Given the description of an element on the screen output the (x, y) to click on. 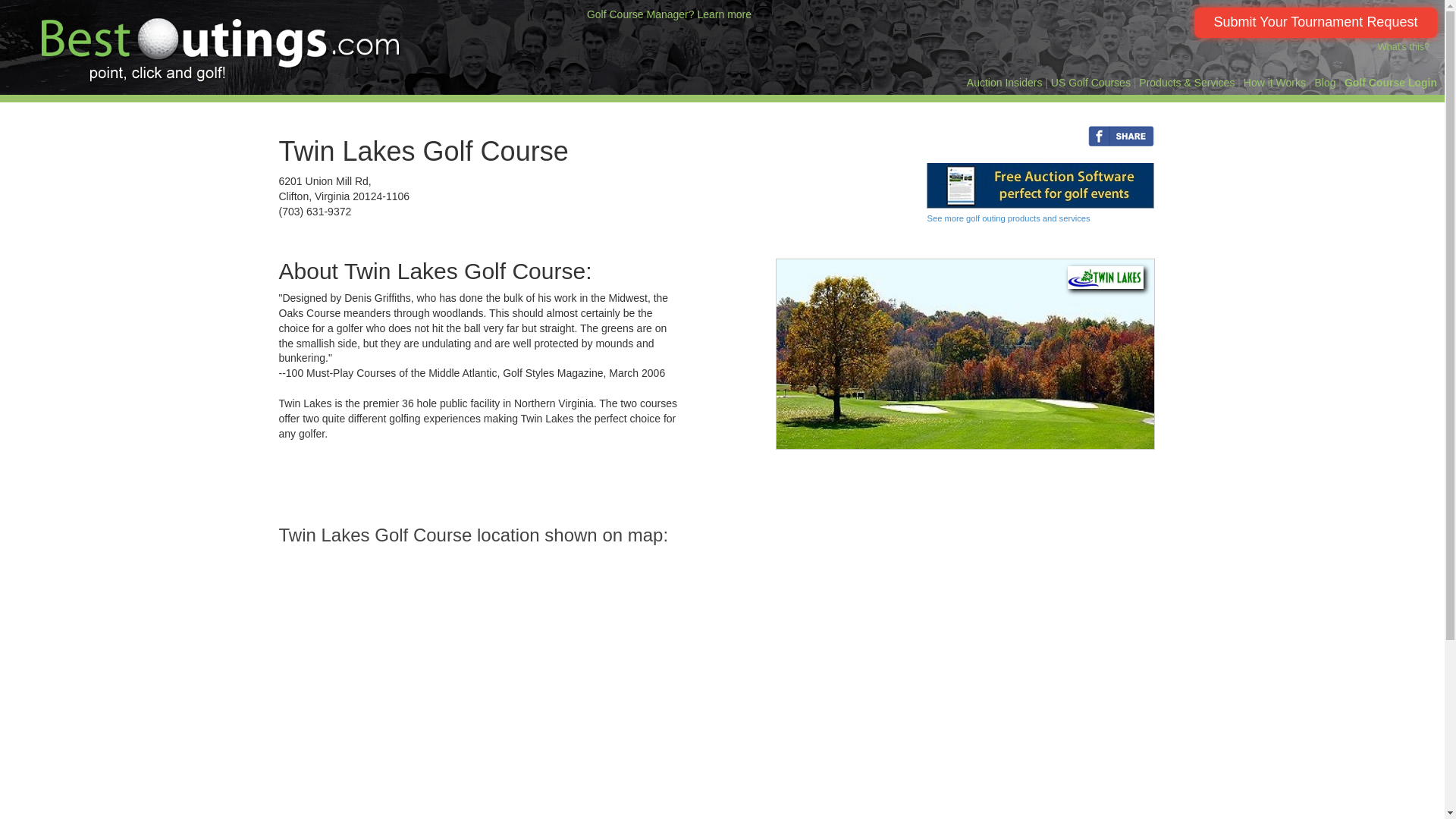
Easy Golf Outings Quotes (1274, 82)
United states Golf Course Directory (1091, 82)
Share (981, 134)
How it Works (1274, 82)
Auction Insiders (1004, 82)
Free Online Auction Software (1040, 184)
Blog (1324, 82)
Golf Outing Products and Services Directory (1186, 82)
Golf Course Login (1390, 82)
...and we'll send it to all of the top area golf courses! (1315, 22)
